Given the description of an element on the screen output the (x, y) to click on. 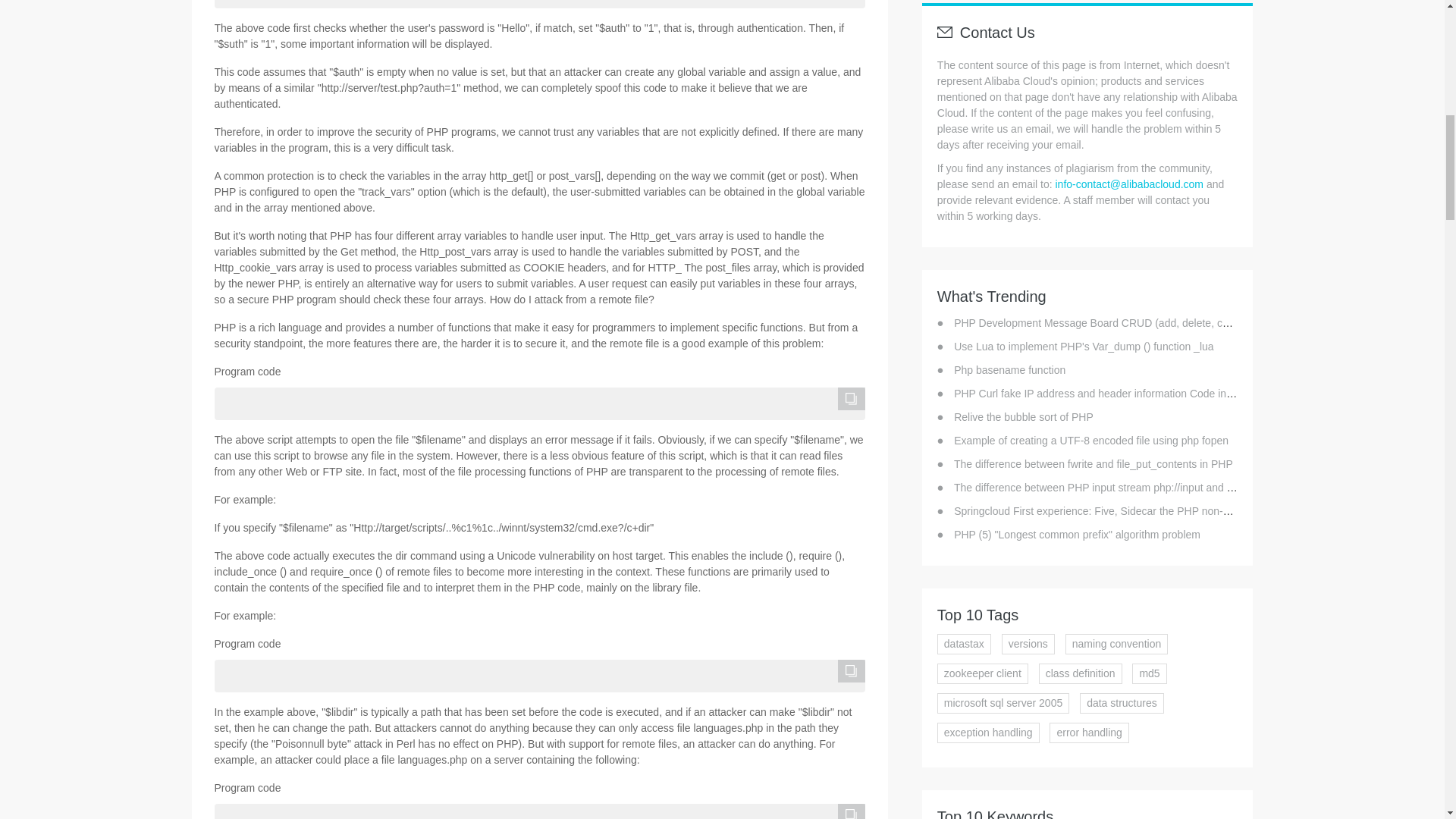
Example of creating a UTF-8 encoded file using php fopen (1090, 440)
class definition (1080, 673)
versions (1027, 643)
microsoft sql server 2005 (1002, 702)
Php basename function (1009, 369)
naming convention (1117, 643)
md5 (1149, 673)
zookeeper client (982, 673)
error handling (1088, 732)
Relive the bubble sort of PHP (1023, 417)
datastax (964, 643)
exception handling (988, 732)
data structures (1121, 702)
